Given the description of an element on the screen output the (x, y) to click on. 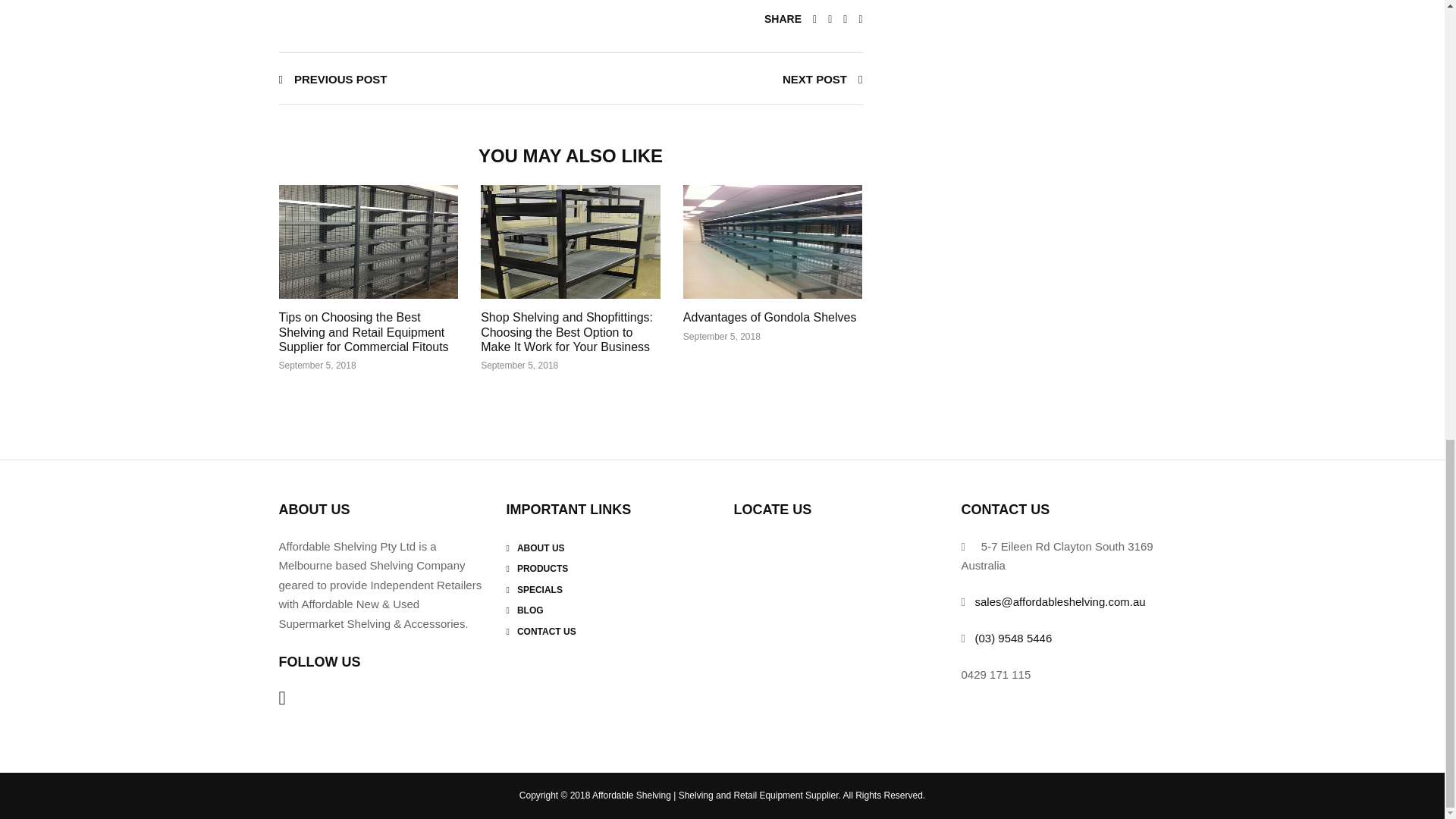
PREVIOUS POST (333, 78)
NEXT POST (823, 78)
